Given the description of an element on the screen output the (x, y) to click on. 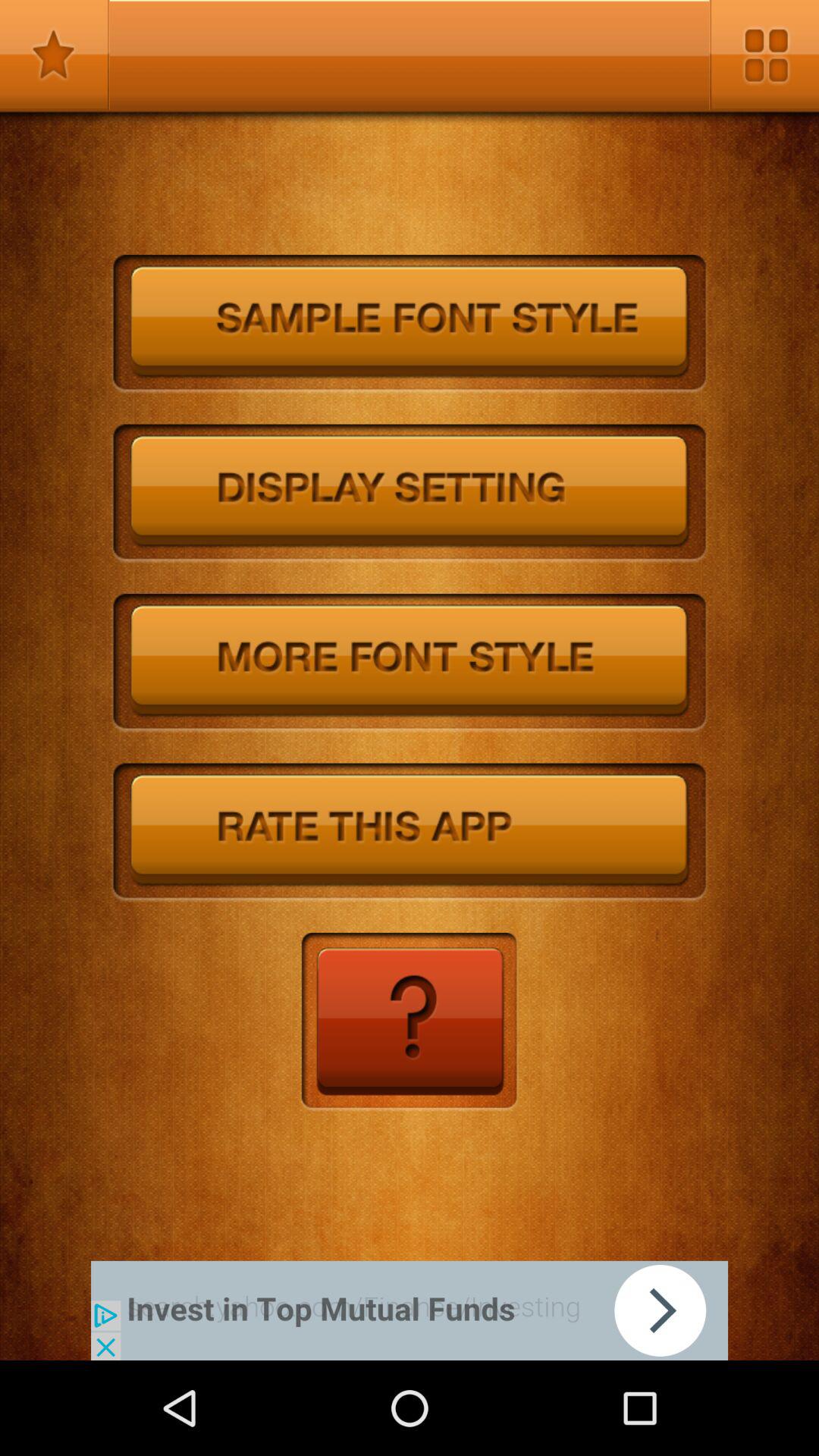
display setting option (409, 493)
